Given the description of an element on the screen output the (x, y) to click on. 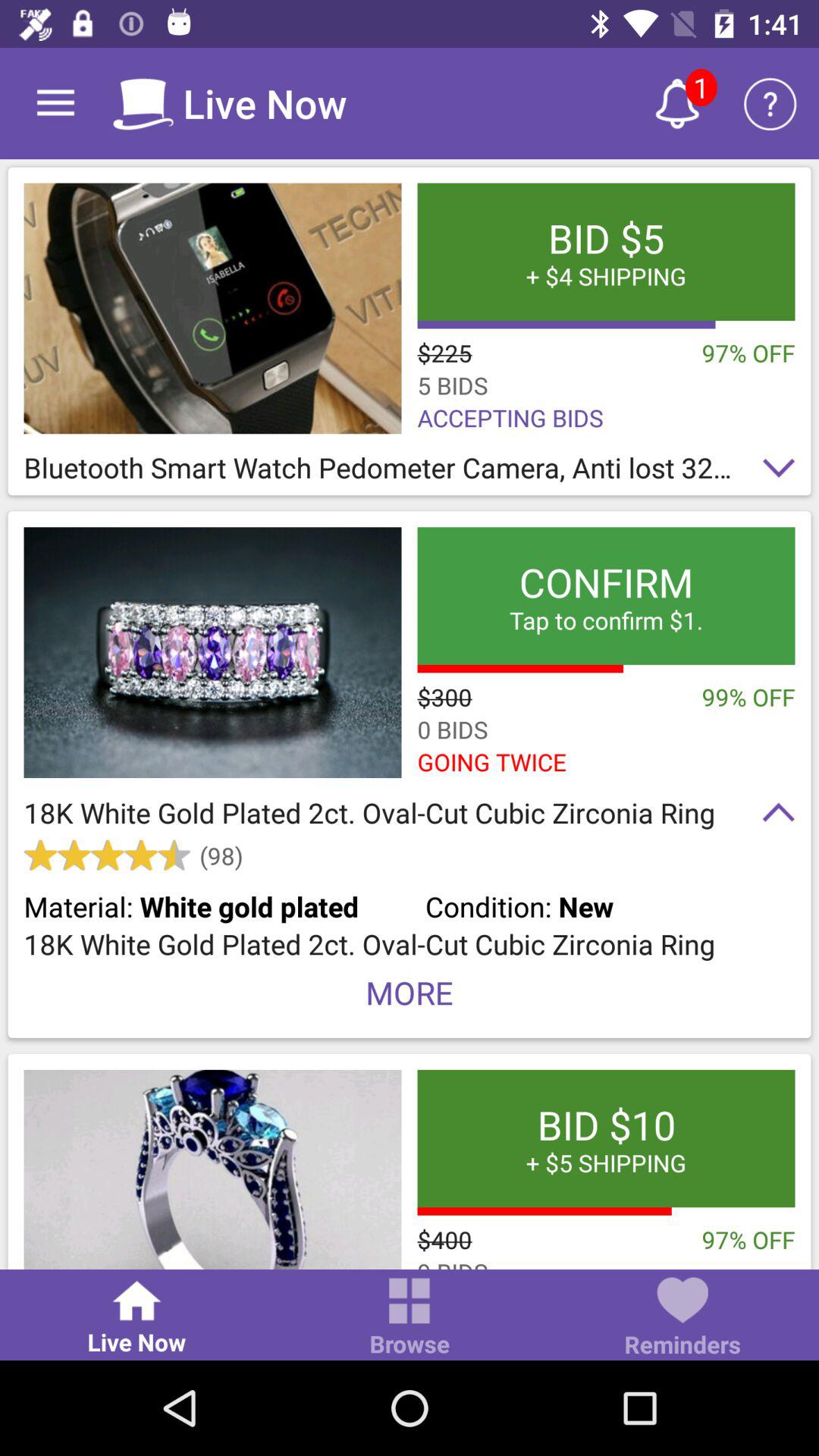
view item (212, 308)
